Given the description of an element on the screen output the (x, y) to click on. 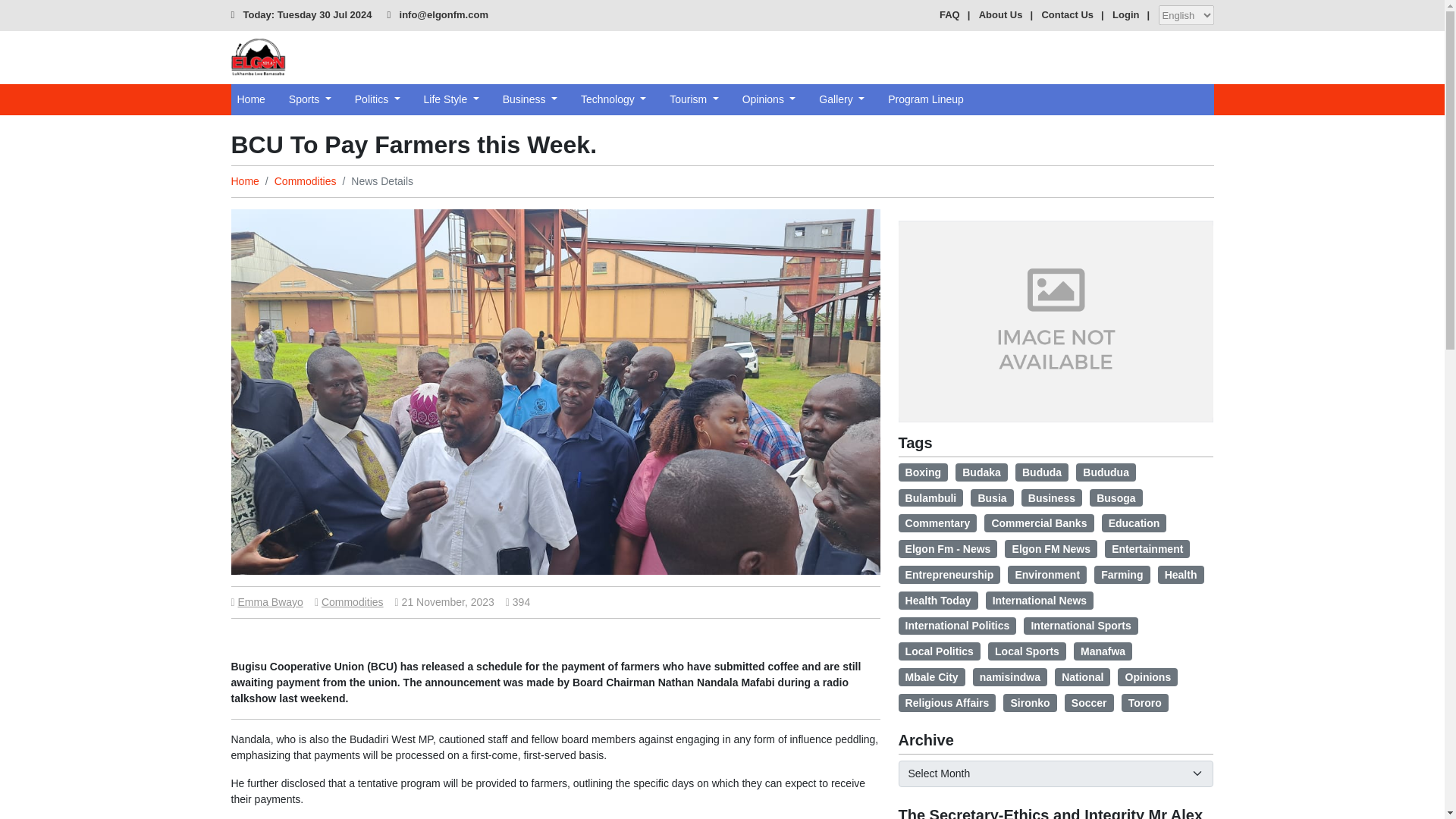
About Us (1000, 14)
Emma Bwayo (270, 602)
Life Style (450, 98)
FAQ (949, 14)
Politics (377, 98)
Contact Us (1067, 14)
YouTube video player (678, 50)
Technology (613, 98)
Login (1125, 14)
Opinions (769, 98)
Business (529, 98)
Home (244, 181)
Home (250, 98)
Program Lineup (925, 98)
Tourism (693, 98)
